Given the description of an element on the screen output the (x, y) to click on. 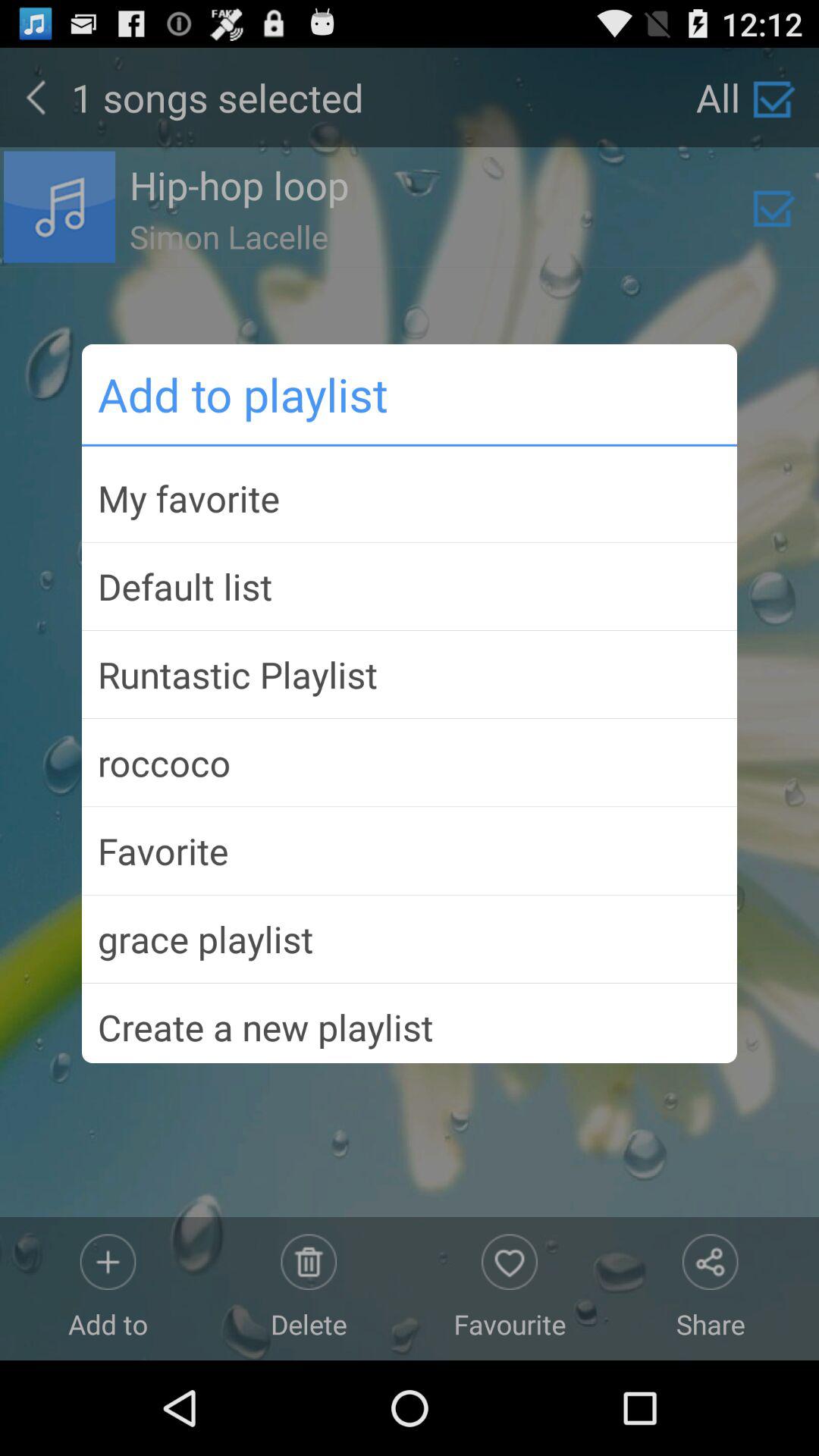
choose the app above the create a new item (409, 938)
